Given the description of an element on the screen output the (x, y) to click on. 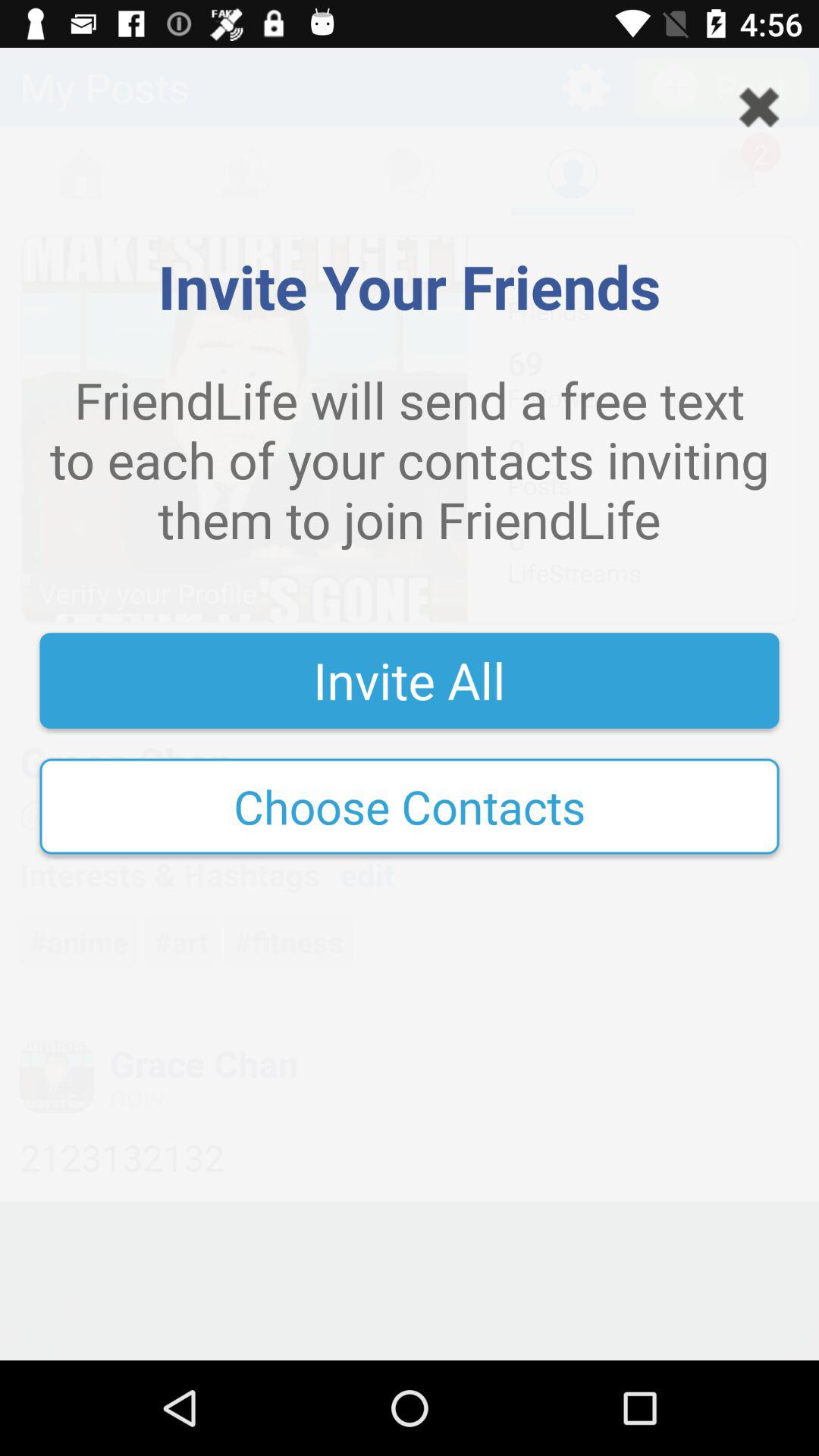
open item below the friendlife will send icon (409, 680)
